Given the description of an element on the screen output the (x, y) to click on. 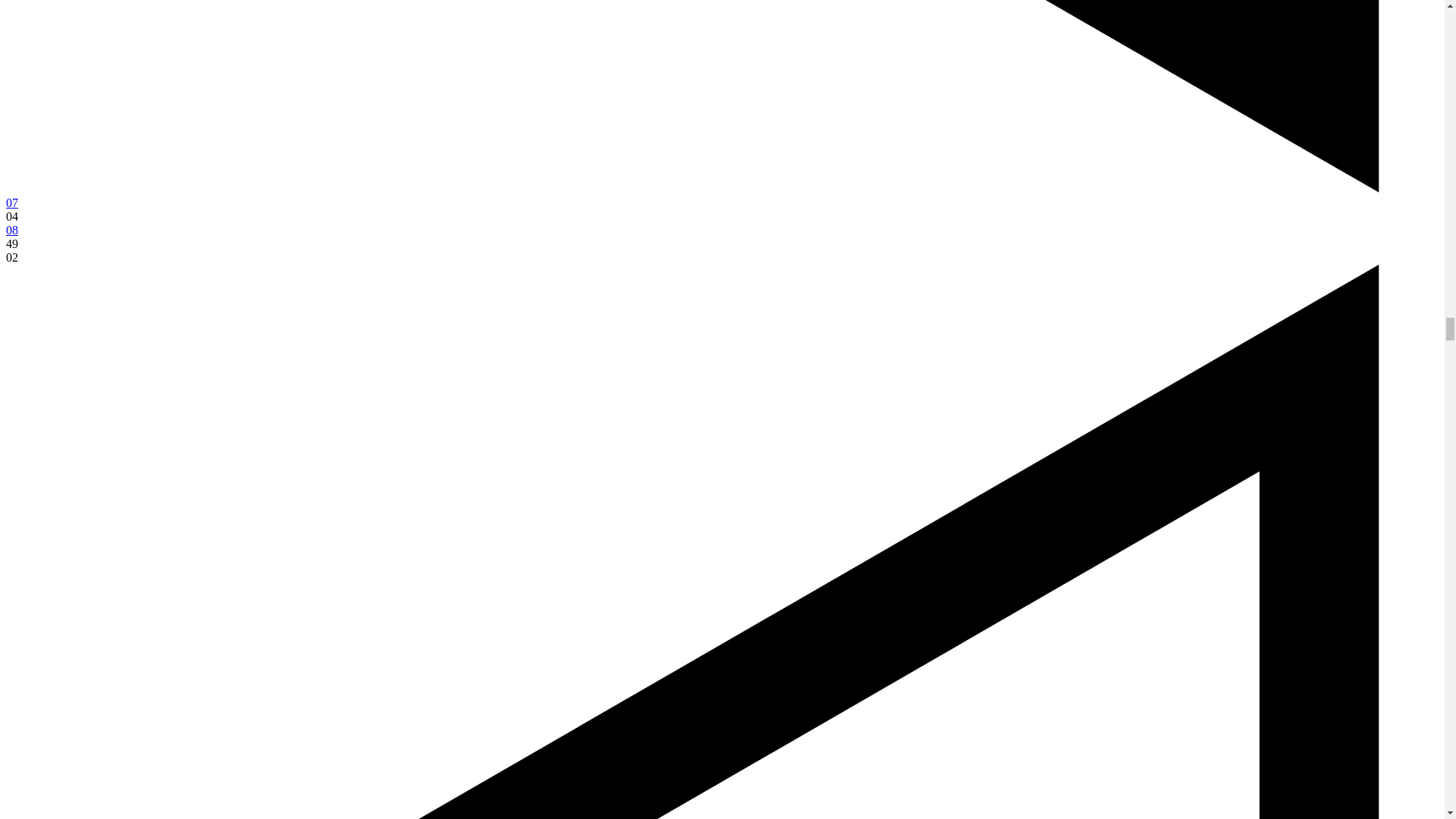
07 (11, 202)
08 (11, 229)
